Given the description of an element on the screen output the (x, y) to click on. 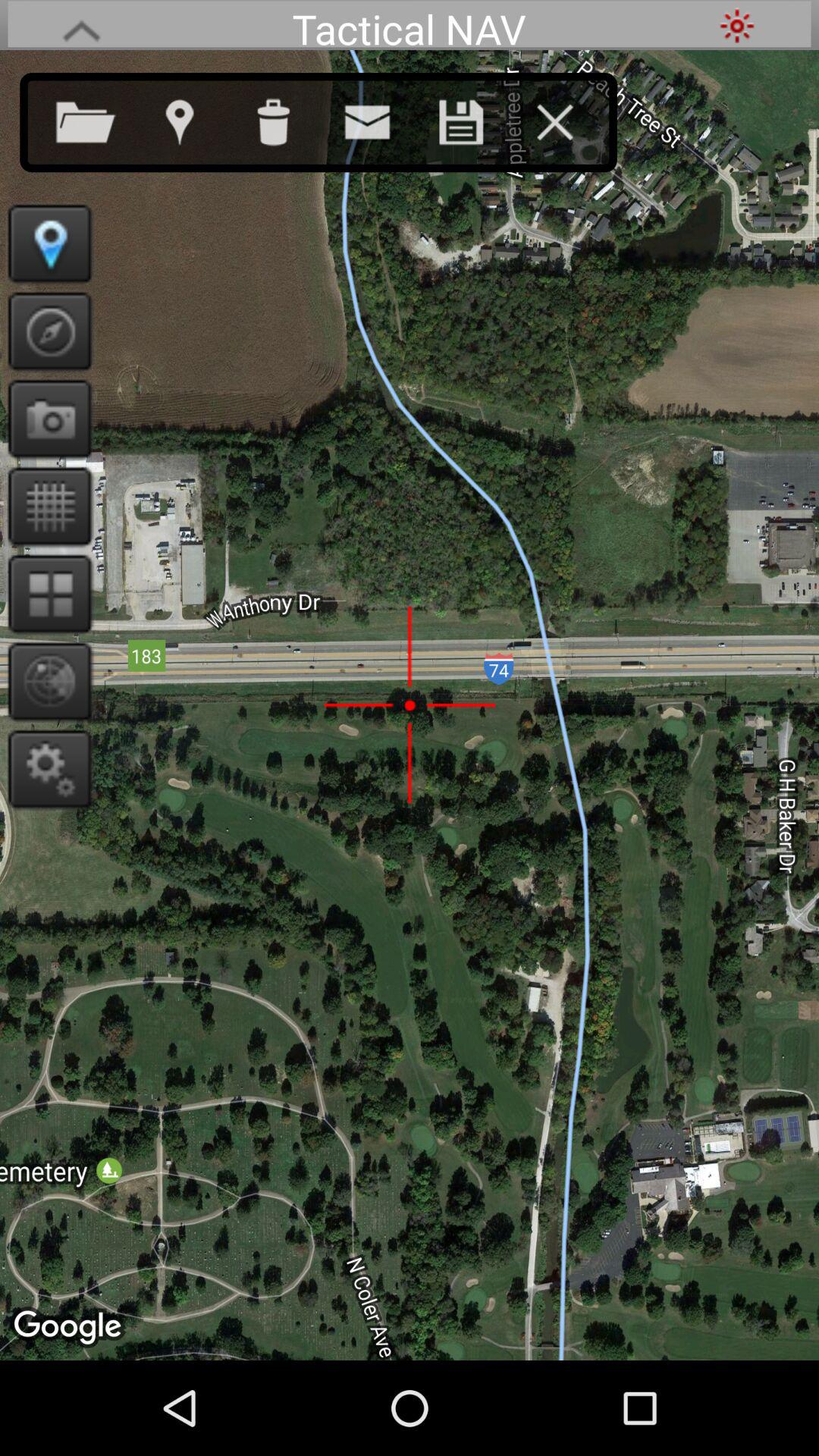
launch app below tactical nav icon (570, 119)
